Given the description of an element on the screen output the (x, y) to click on. 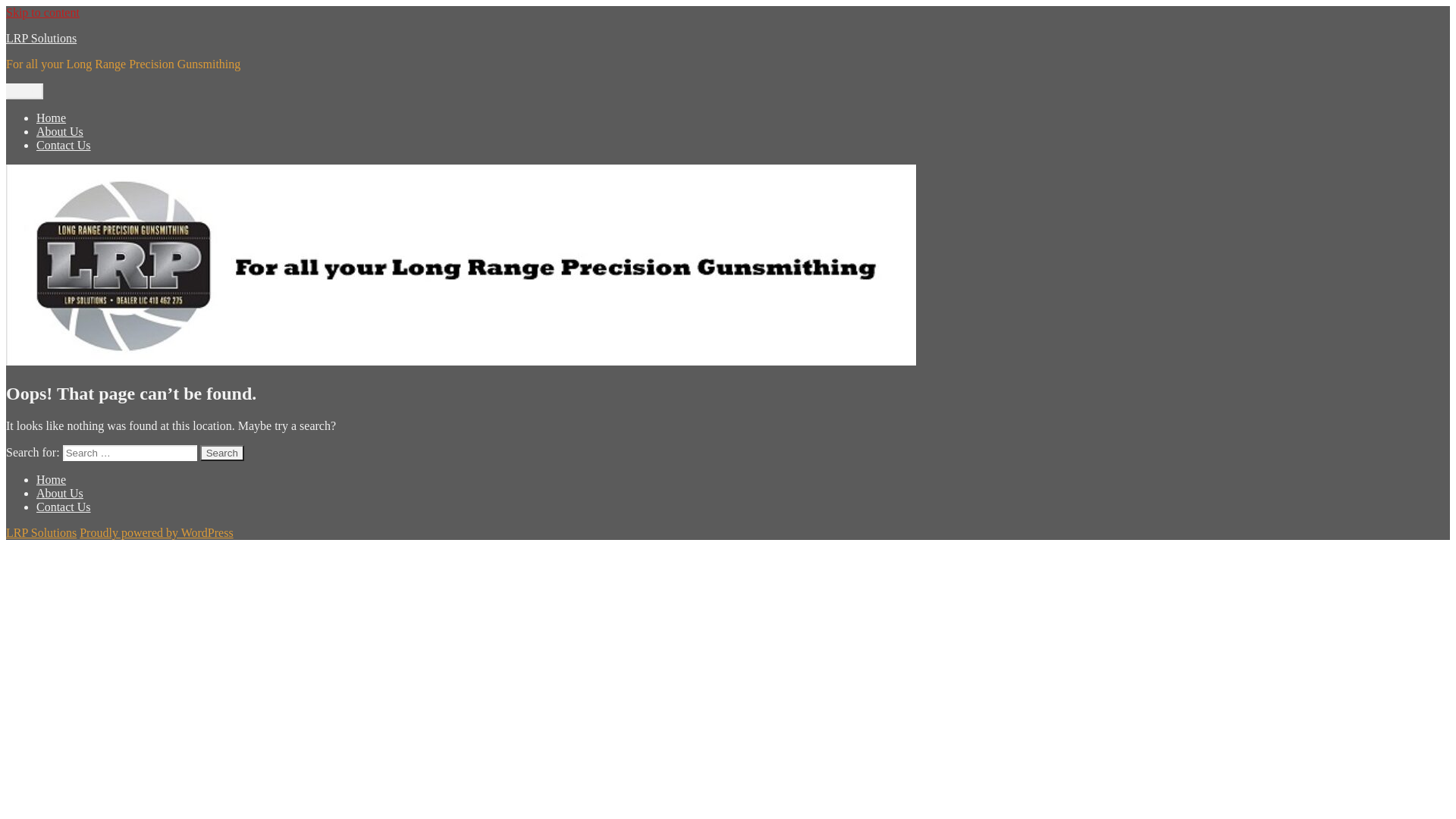
Contact Us Element type: text (63, 144)
Menu Element type: text (24, 91)
LRP Solutions Element type: text (41, 37)
Skip to content Element type: text (42, 12)
Proudly powered by WordPress Element type: text (155, 532)
Contact Us Element type: text (63, 506)
Search Element type: text (222, 453)
Home Element type: text (50, 117)
LRP Solutions Element type: text (41, 532)
Home Element type: text (50, 479)
About Us Element type: text (59, 492)
About Us Element type: text (59, 131)
